Given the description of an element on the screen output the (x, y) to click on. 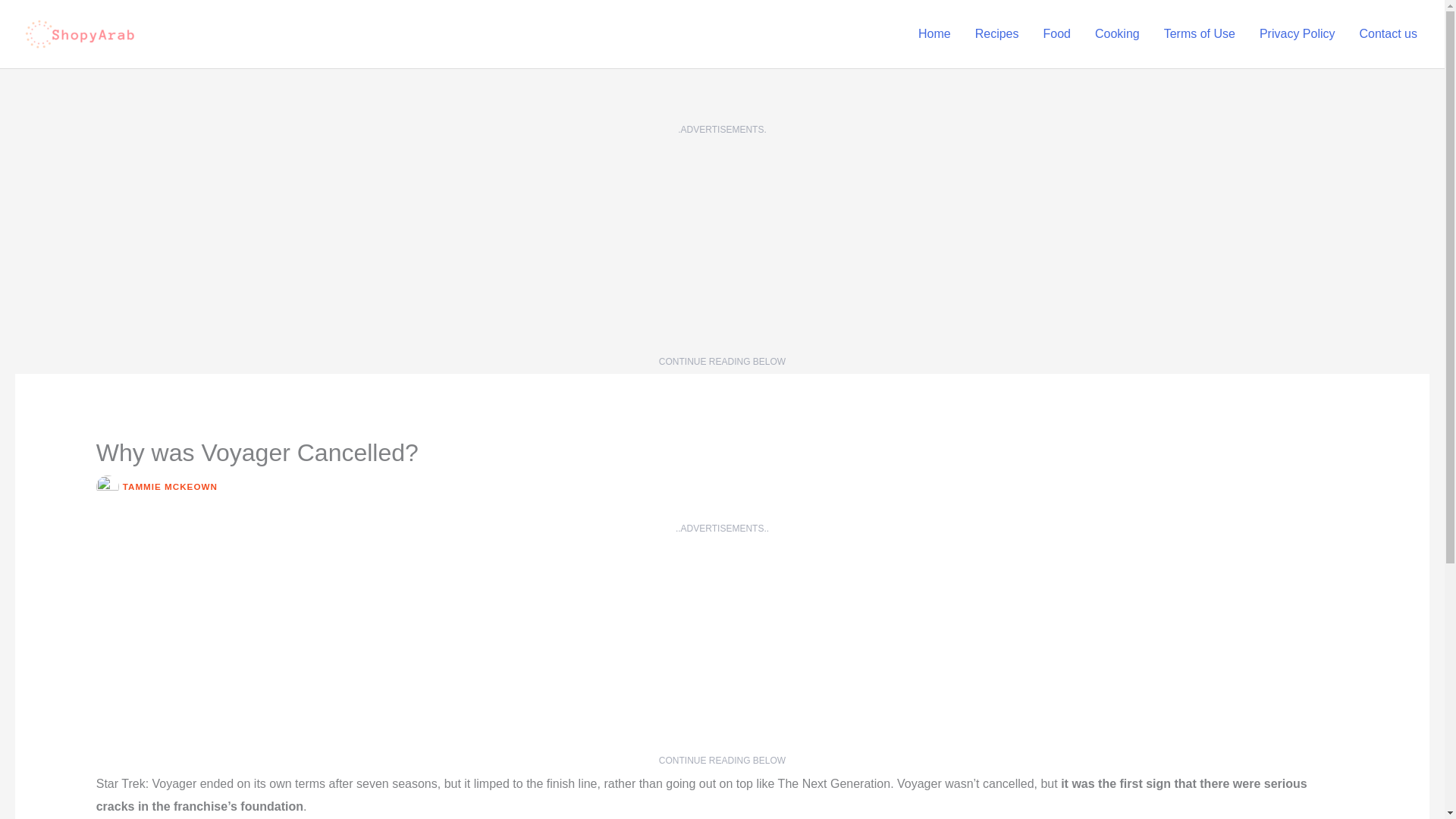
Privacy Policy (1297, 33)
Home (933, 33)
Terms of Use (1199, 33)
Recipes (996, 33)
Cooking (1117, 33)
Contact us (1388, 33)
Food (1056, 33)
